Given the description of an element on the screen output the (x, y) to click on. 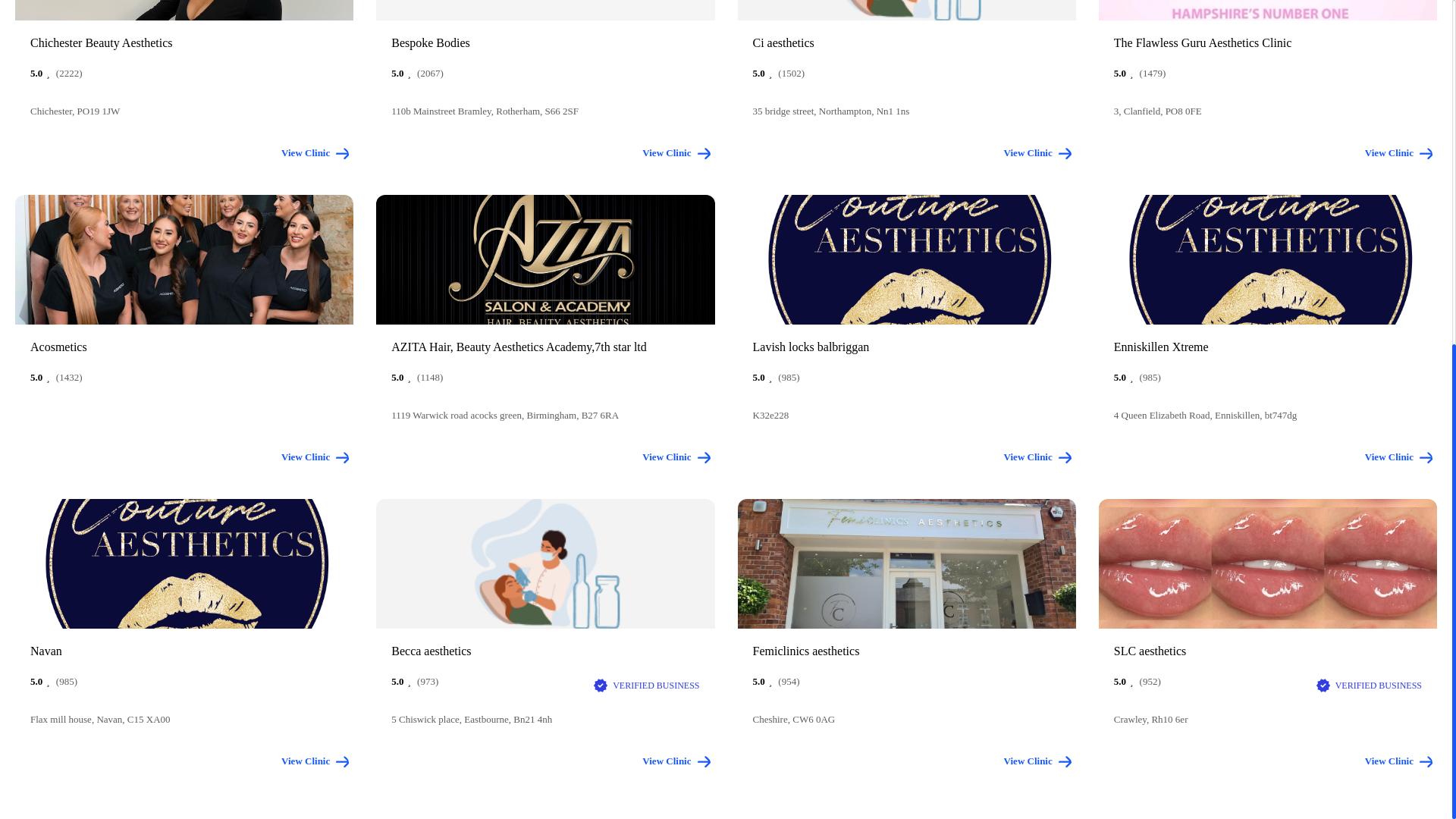
Becca aesthetics (544, 651)
Chichester Beauty Aesthetics (183, 43)
The Flawless  Guru Aesthetics Clinic (1267, 43)
SLC aesthetics (1267, 651)
Lavish locks balbriggan (905, 346)
Femiclinics aesthetics (905, 651)
Ci aesthetics (905, 43)
Acosmetics (183, 346)
Bespoke Bodies (544, 43)
AZITA Hair, Beauty Aesthetics Academy,7th star ltd (544, 346)
Navan (183, 651)
Enniskillen  Xtreme (1267, 346)
